Given the description of an element on the screen output the (x, y) to click on. 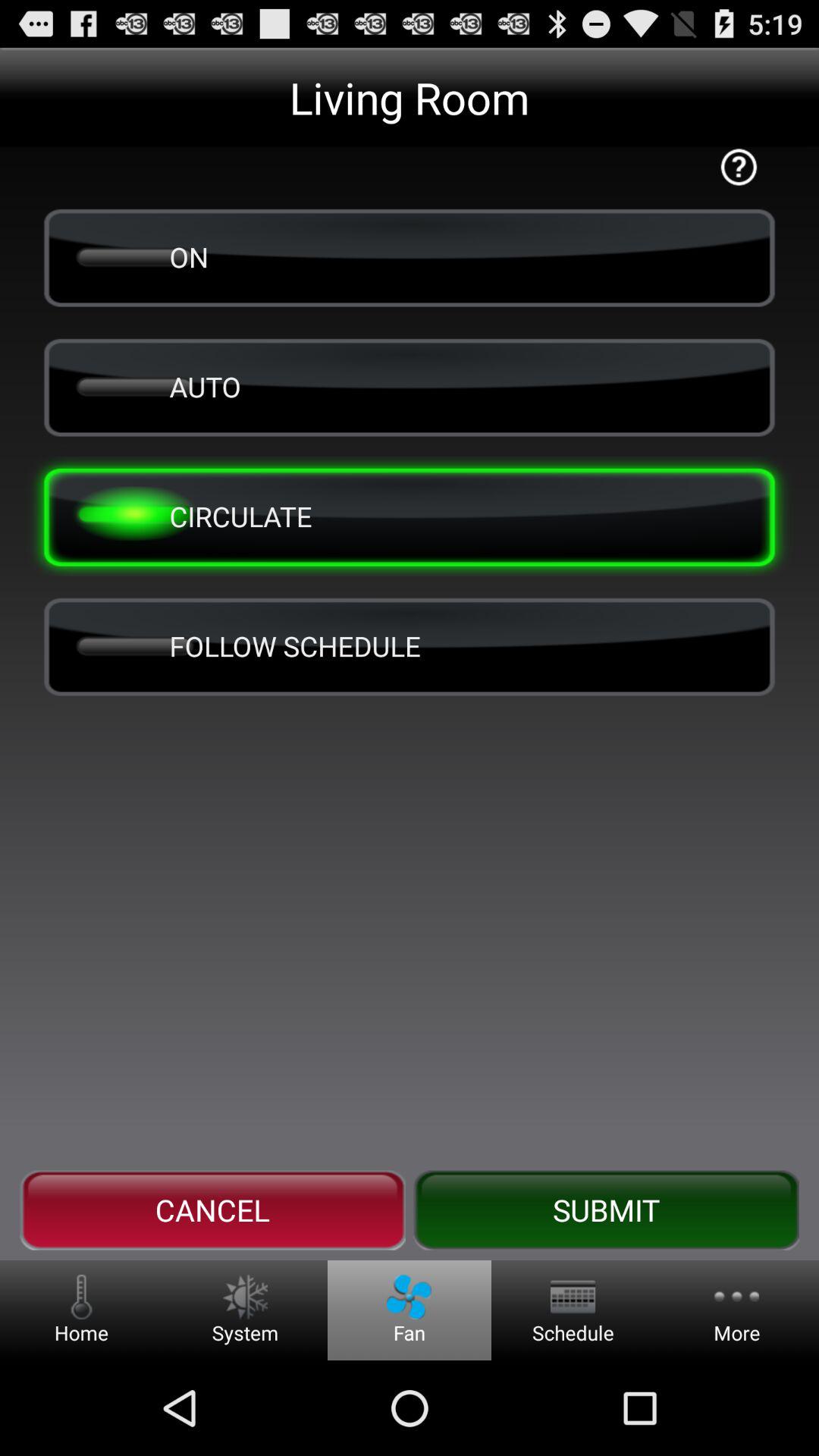
jump to on (409, 256)
